Given the description of an element on the screen output the (x, y) to click on. 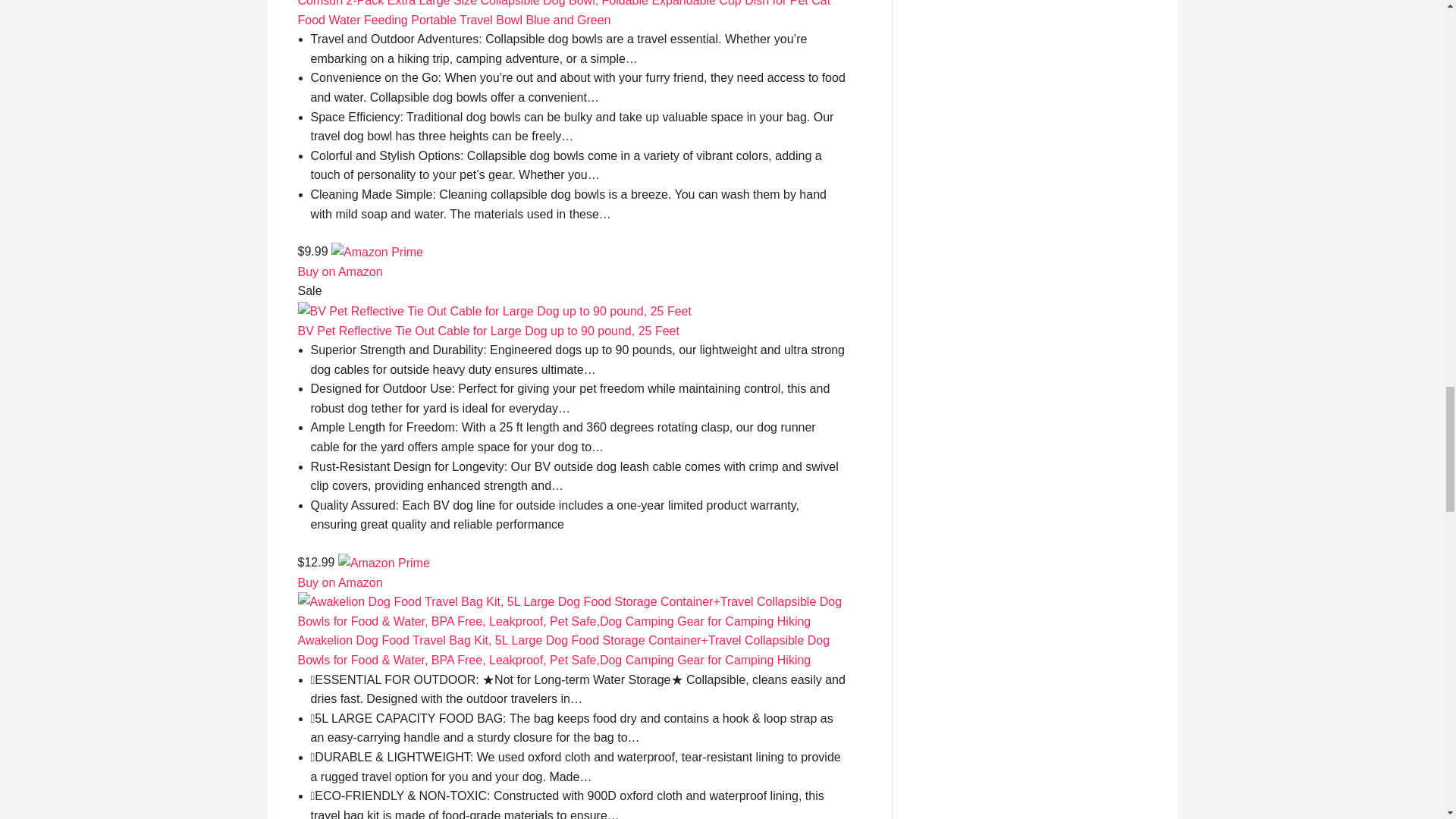
Buy on Amazon (339, 271)
Amazon Prime (377, 250)
